Given the description of an element on the screen output the (x, y) to click on. 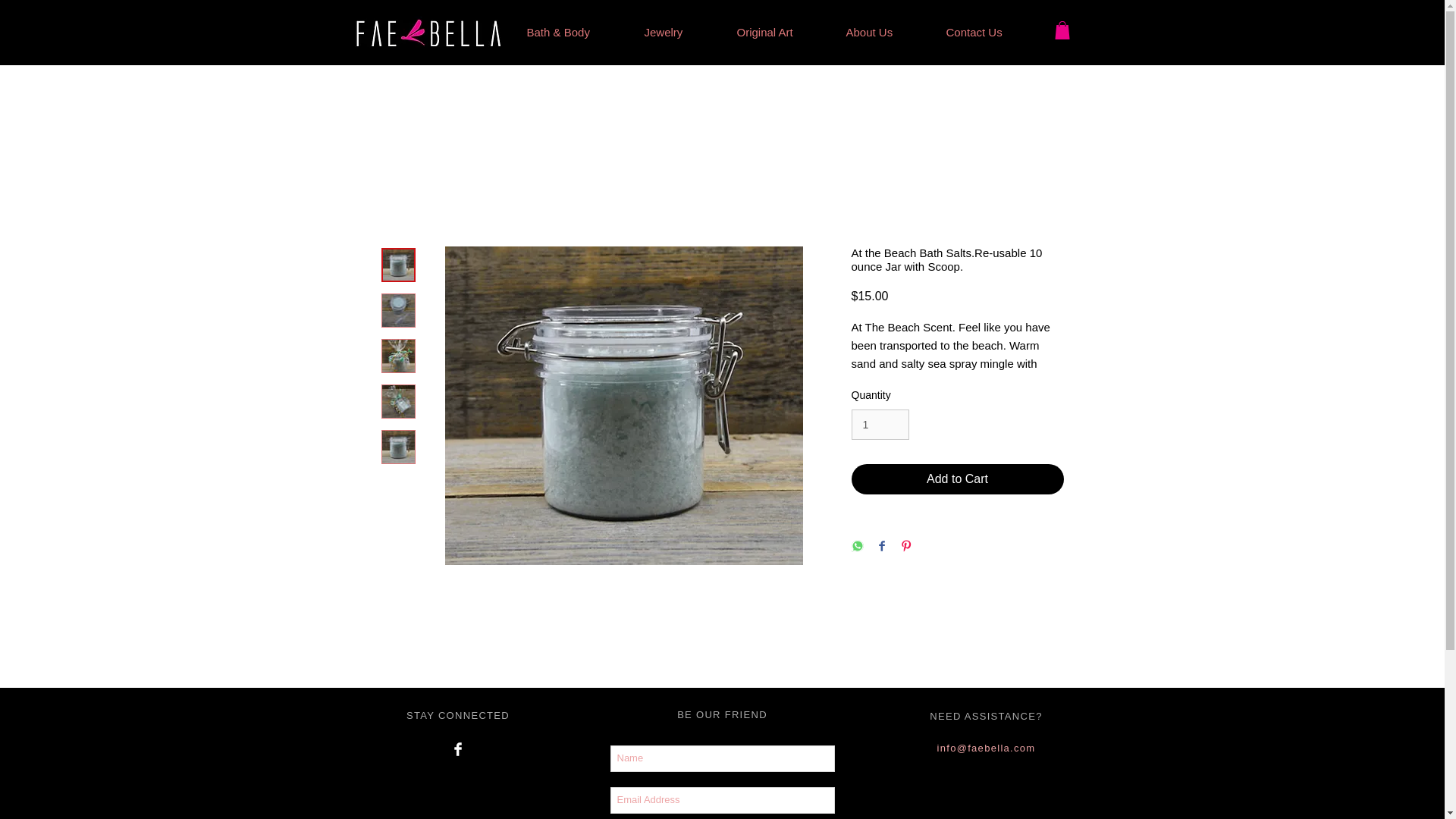
Original Art (779, 32)
Add to Cart (956, 479)
1 (879, 424)
Contact Us (988, 32)
fae-bella-logo-large.jpg (430, 32)
About Us (884, 32)
